Given the description of an element on the screen output the (x, y) to click on. 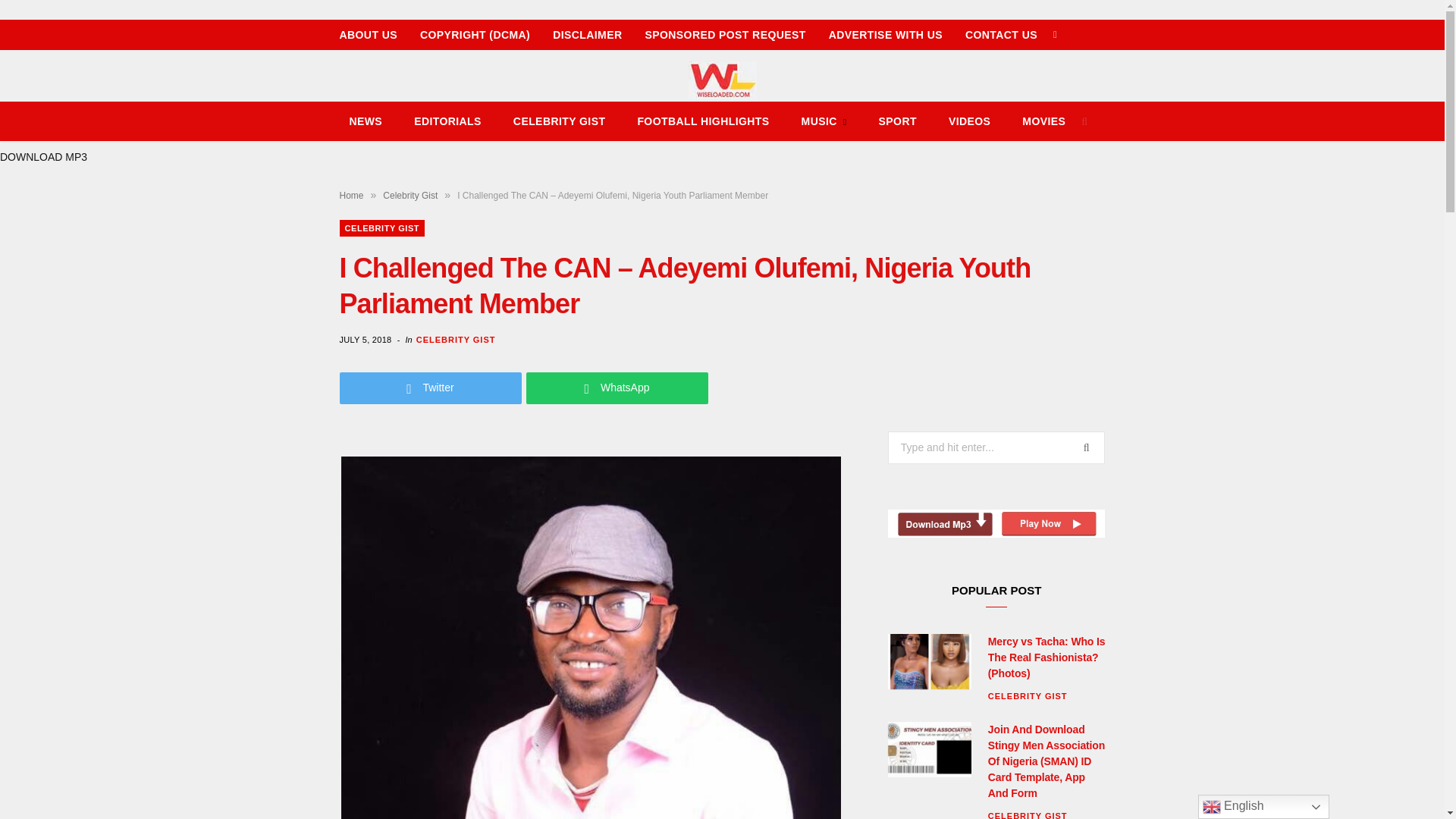
CONTACT US (1000, 34)
FOOTBALL HIGHLIGHTS (702, 120)
DOWNLOAD MP3 (43, 156)
MOVIES (1043, 120)
WhatsApp (616, 387)
JULY 5, 2018 (366, 338)
SPORT (898, 120)
Twitter (430, 387)
DISCLAIMER (587, 34)
CELEBRITY GIST (382, 228)
